Given the description of an element on the screen output the (x, y) to click on. 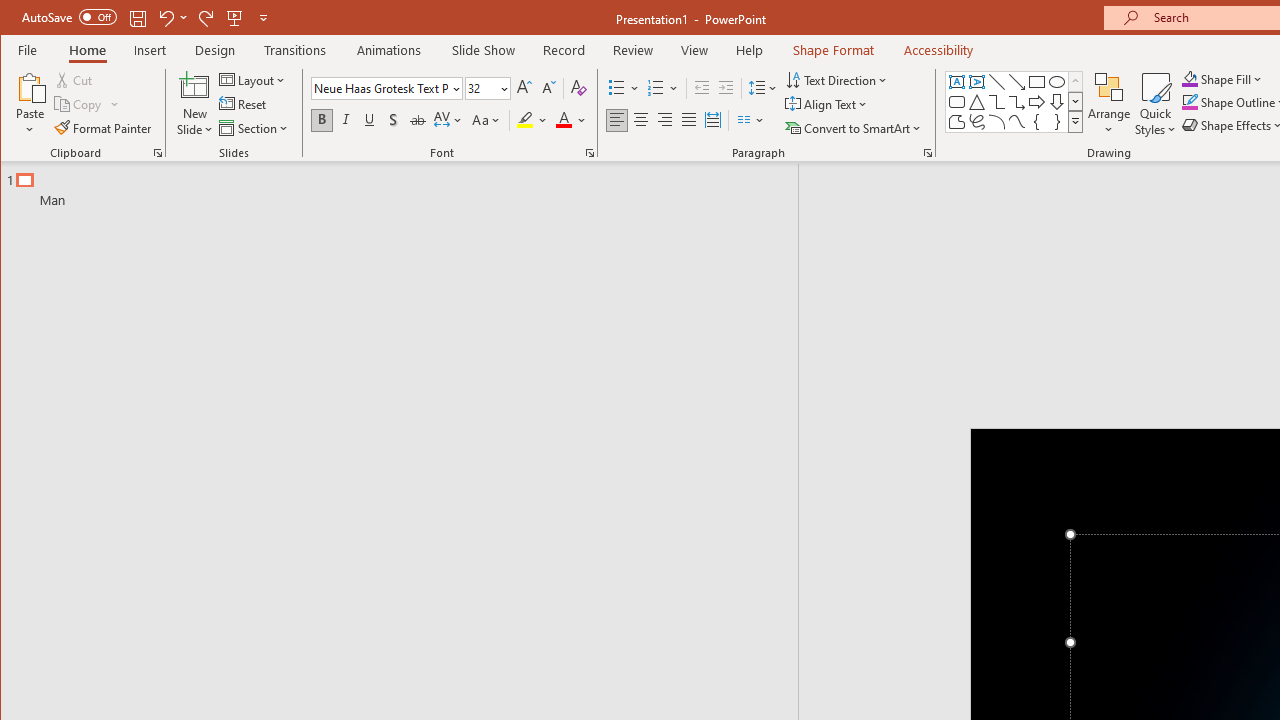
Increase Indent (726, 88)
Quick Styles (1155, 104)
Rectangle (1036, 82)
Shape Fill Orange, Accent 2 (1189, 78)
Font Color (571, 119)
Reset (244, 103)
Text Highlight Color (532, 119)
Layout (253, 80)
Office Clipboard... (157, 152)
